Given the description of an element on the screen output the (x, y) to click on. 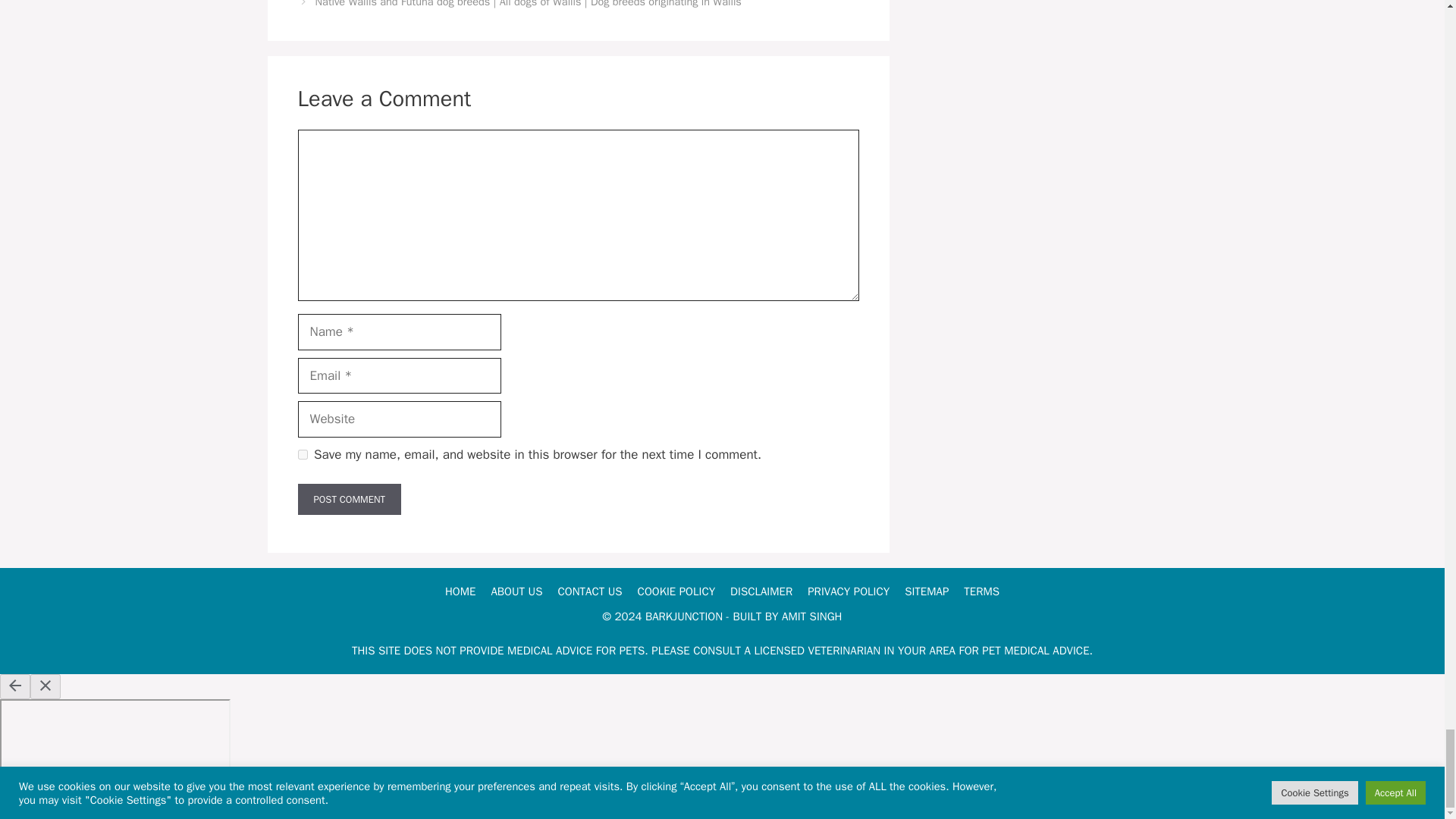
Post Comment (349, 499)
yes (302, 454)
